Given the description of an element on the screen output the (x, y) to click on. 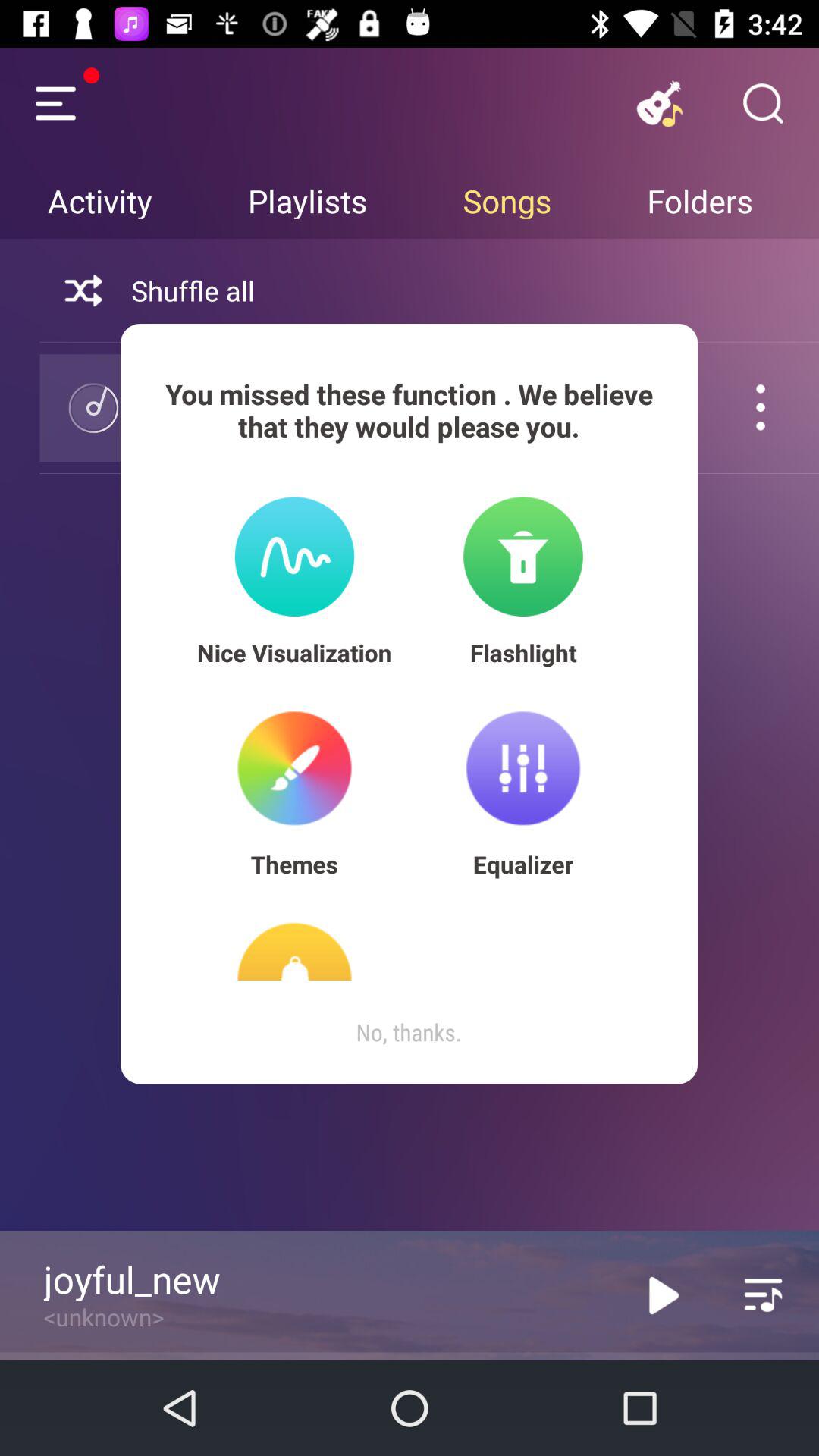
launch item next to themes item (523, 864)
